Given the description of an element on the screen output the (x, y) to click on. 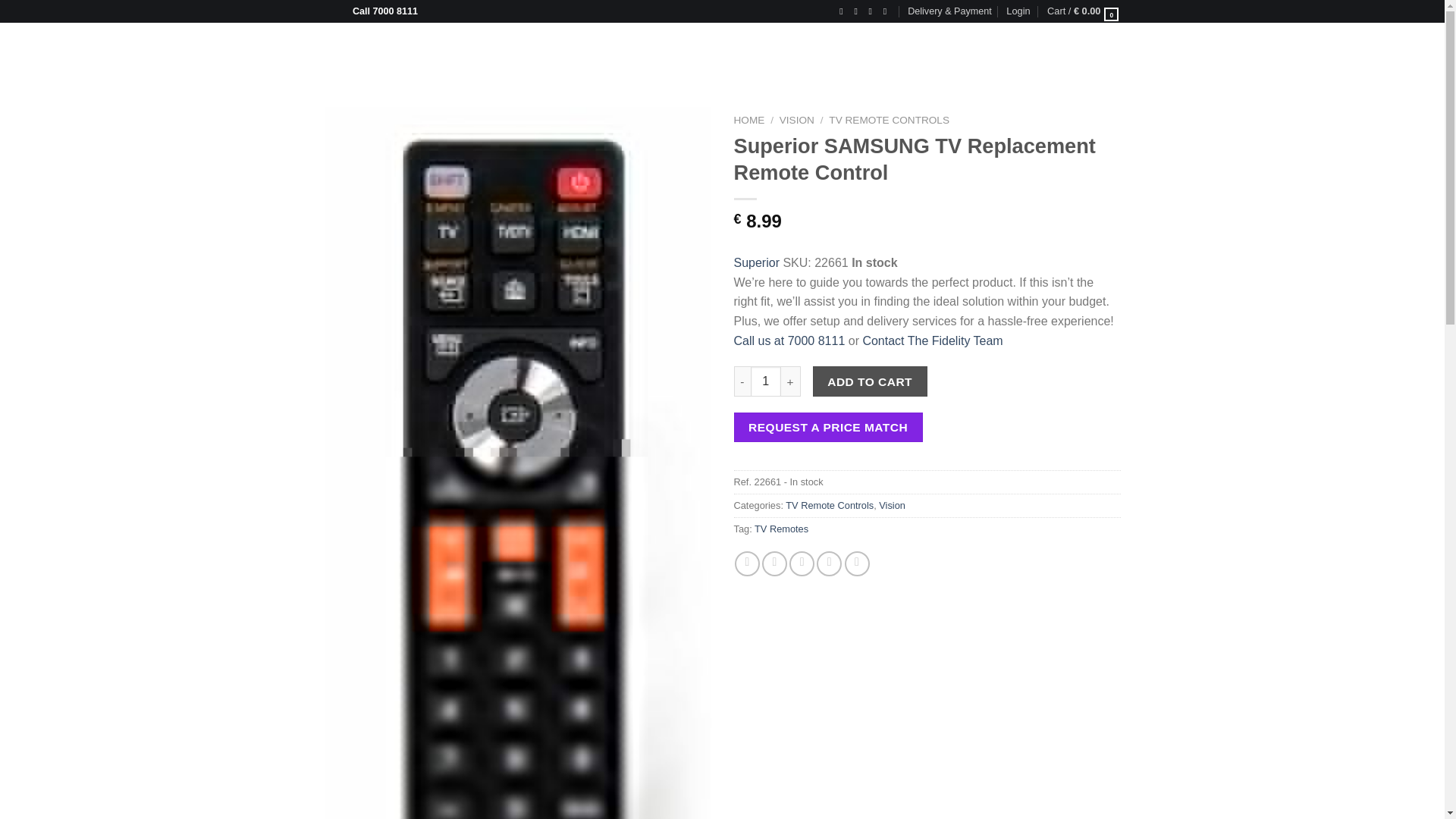
Share on Facebook (747, 563)
1 (765, 381)
    Call 7000 8111 (379, 10)
Cart (1082, 11)
Login (1017, 11)
Login (1017, 11)
Share on Twitter (774, 563)
